Given the description of an element on the screen output the (x, y) to click on. 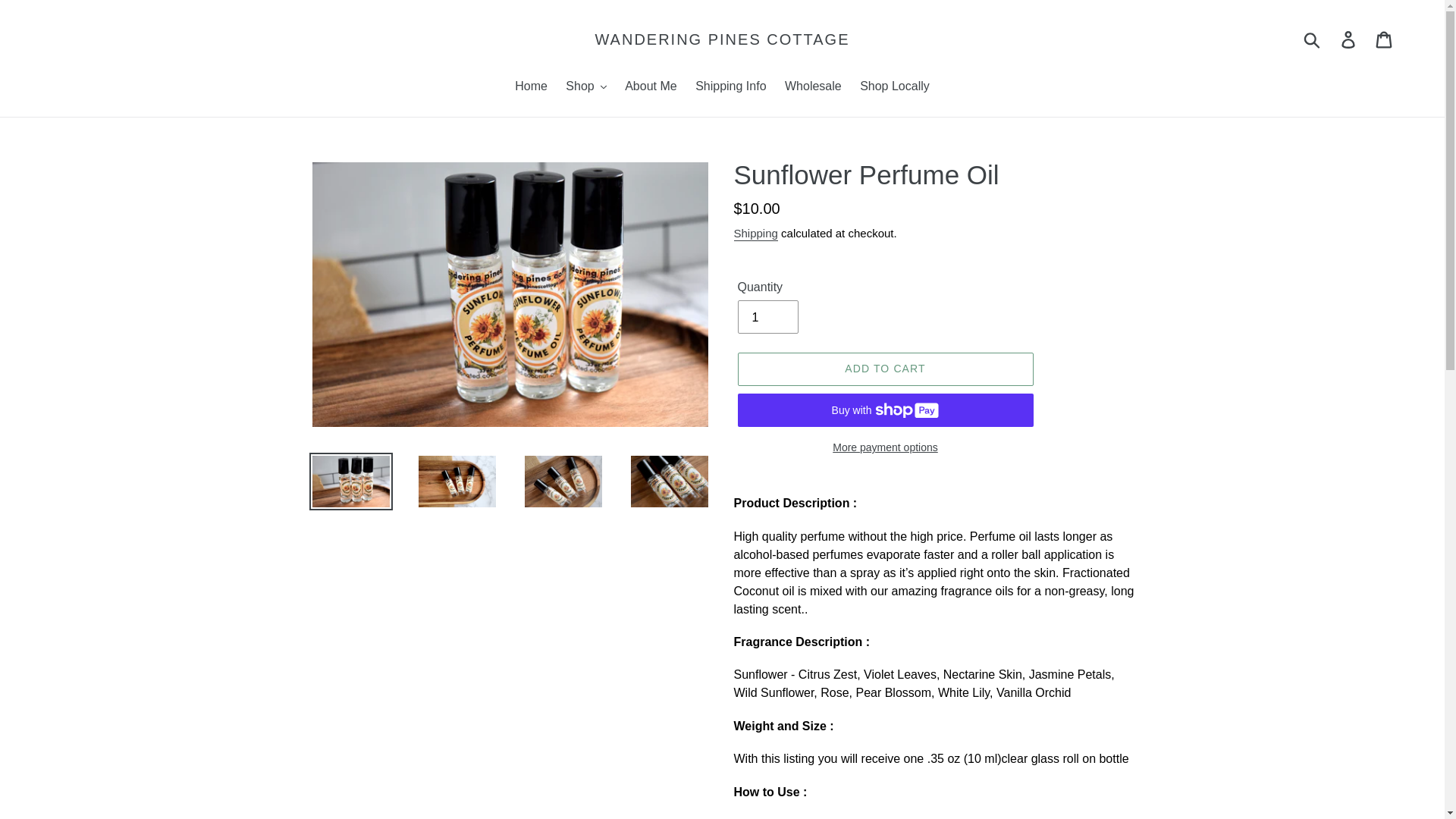
Cart (1385, 39)
1 (766, 316)
Submit (1313, 39)
Log in (1349, 39)
Home (530, 86)
WANDERING PINES COTTAGE (721, 39)
